Given the description of an element on the screen output the (x, y) to click on. 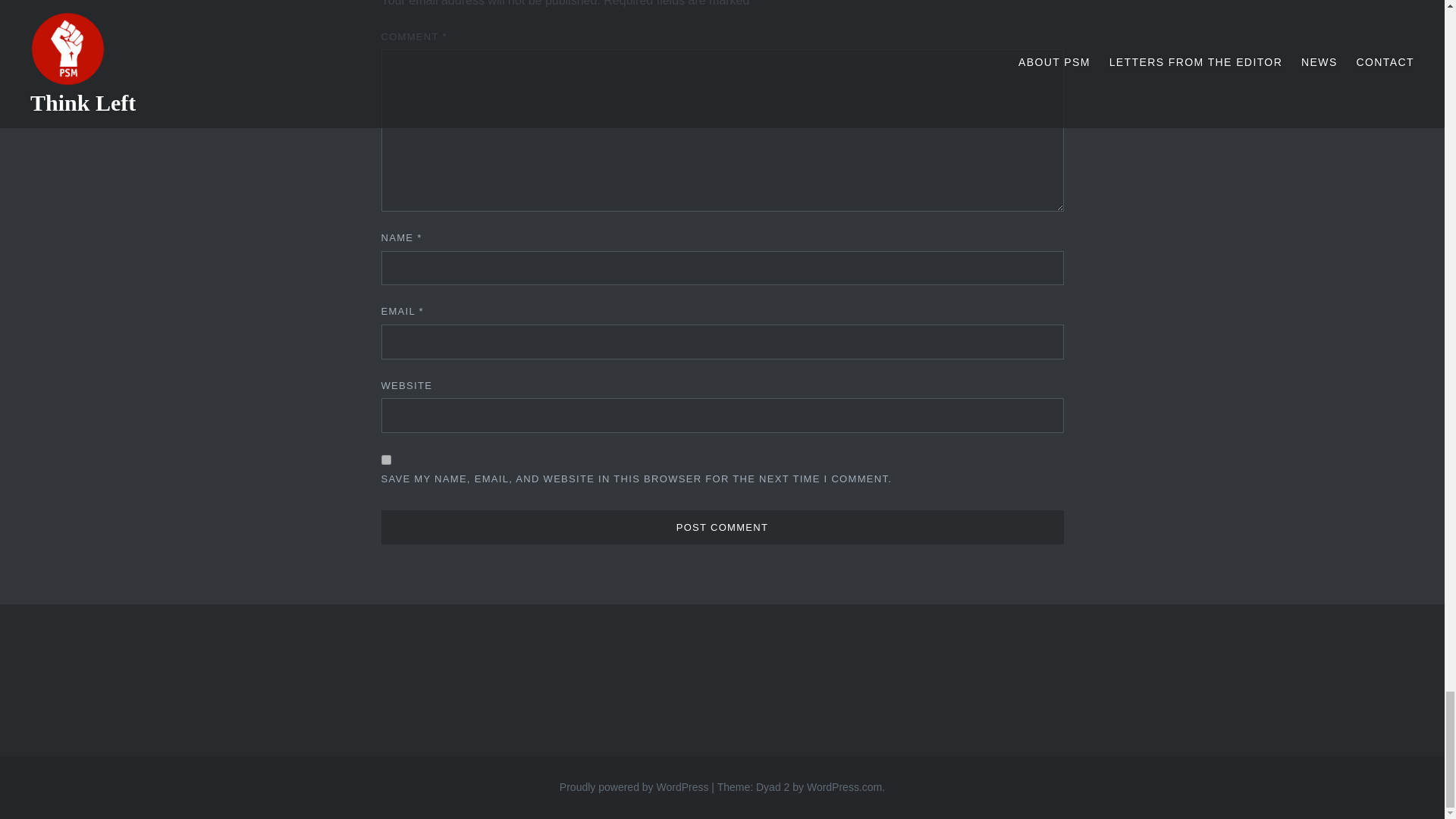
WordPress.com (844, 787)
Post Comment (721, 527)
Post Comment (721, 527)
yes (385, 460)
Proudly powered by WordPress (634, 787)
